Given the description of an element on the screen output the (x, y) to click on. 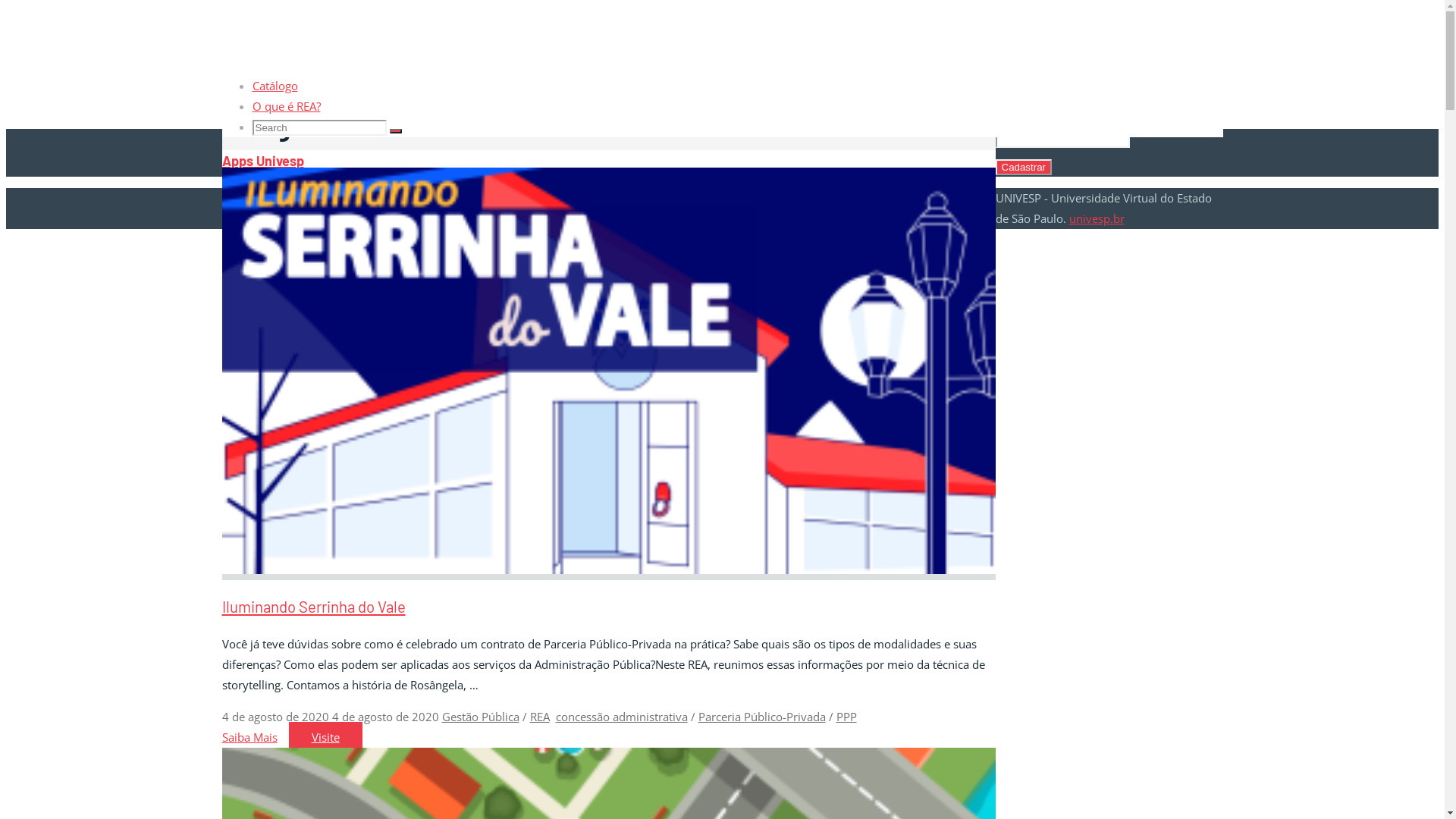
Visite
"Iluminando Serrinha do Vale" Element type: text (324, 736)
Iluminando Serrinha do Vale Element type: hover (607, 569)
REA Element type: text (539, 716)
Search Element type: text (395, 389)
Iluminando Serrinha do Vale Element type: text (312, 606)
Cadastrar Element type: text (1022, 167)
REA Element type: text (231, 74)
Apps Univesp Element type: text (262, 160)
PPP Element type: text (845, 716)
Saiba Mais
"Iluminando Serrinha do Vale" Element type: text (248, 736)
univesp.br Element type: text (1096, 217)
Search Element type: text (395, 130)
